Given the description of an element on the screen output the (x, y) to click on. 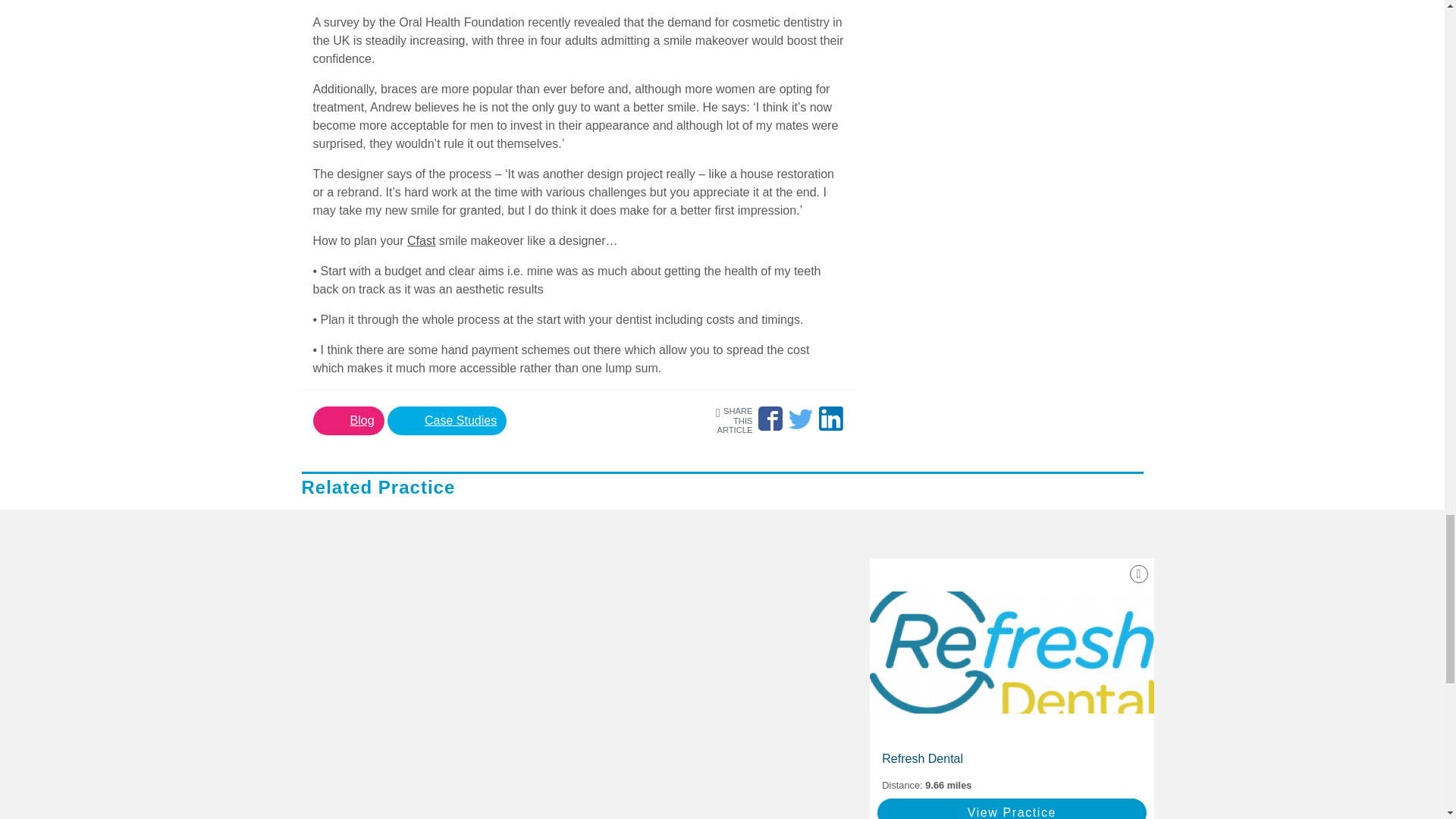
Case Studies (446, 420)
View Practice (1011, 808)
Share article on LinkedIn (830, 418)
Refresh Dental (1011, 759)
Cfast (421, 240)
Share article on Twitter (800, 418)
Share article on Facebook (770, 418)
Blog (348, 420)
